Given the description of an element on the screen output the (x, y) to click on. 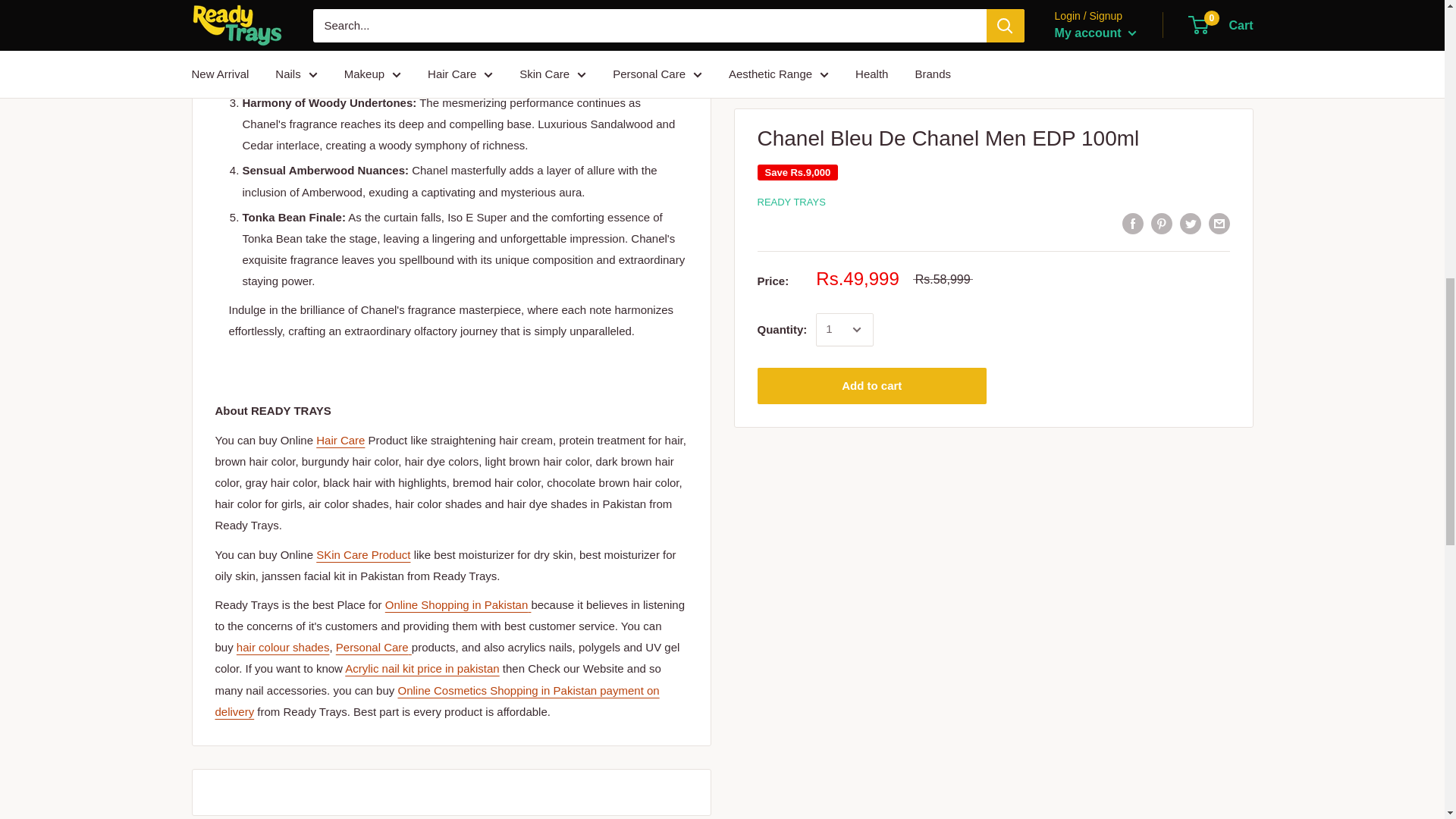
Hair Care (340, 440)
Personal Care (374, 646)
Nail (422, 667)
Hair Care (282, 646)
Ready Trays (458, 604)
Skin care (362, 554)
Makeup (437, 700)
